Given the description of an element on the screen output the (x, y) to click on. 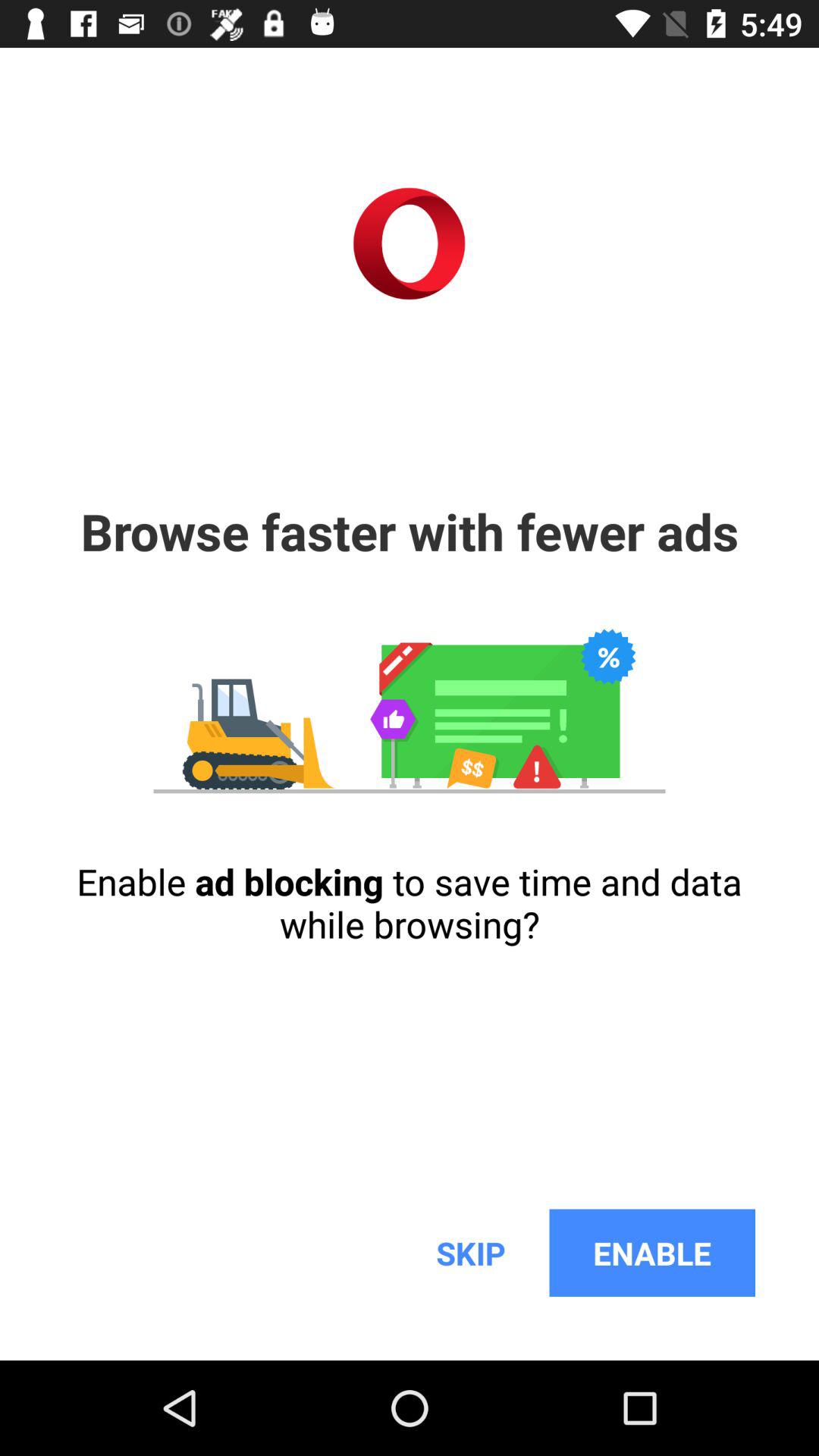
open skip icon (470, 1252)
